Given the description of an element on the screen output the (x, y) to click on. 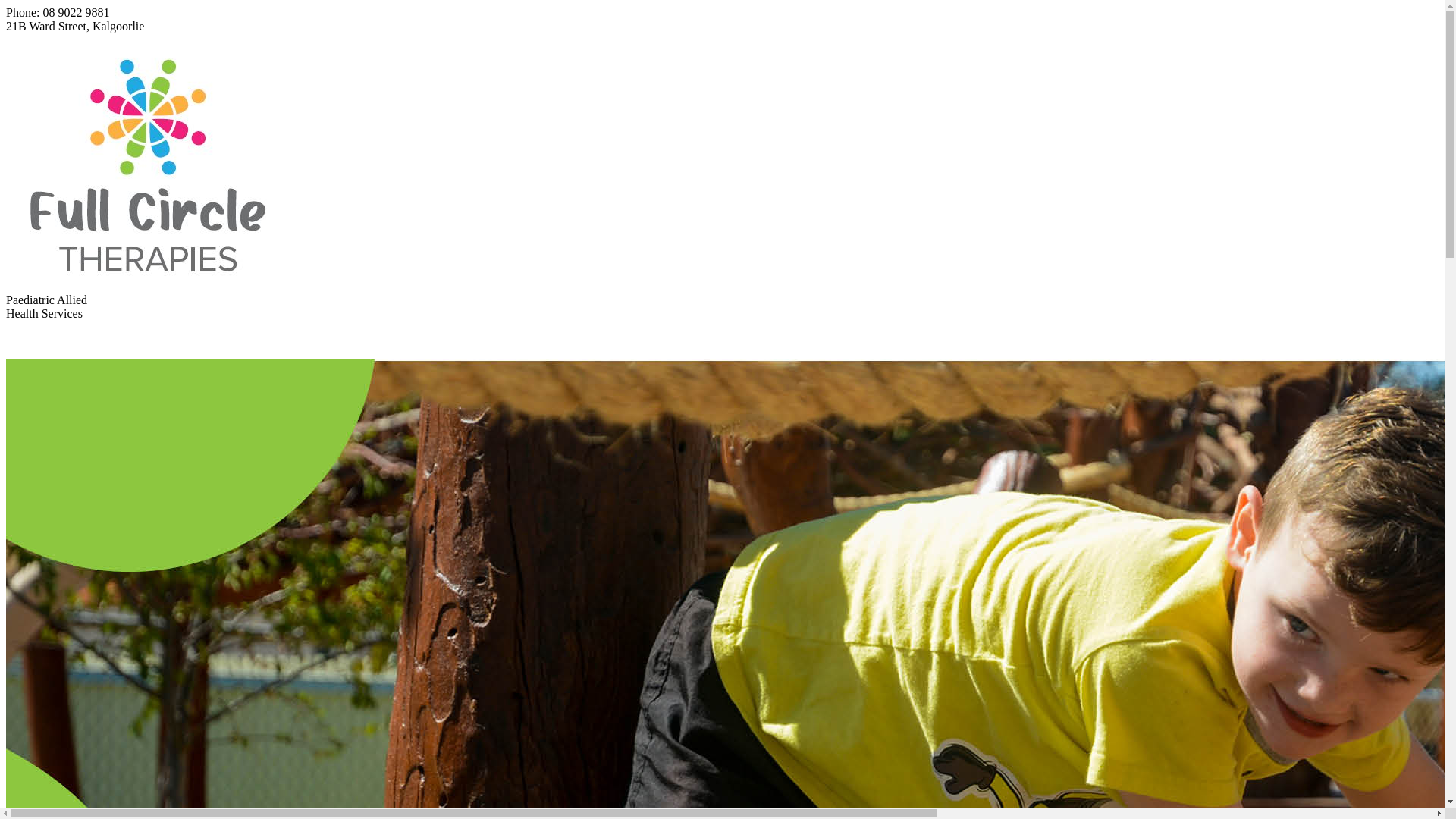
COMPLAINTS & FEEDBACK Element type: text (686, 339)
HOME Element type: text (38, 339)
SPONSORS Element type: text (539, 339)
CAREERS Element type: text (272, 339)
SUPPORT FOR FAMILIES Element type: text (404, 339)
SERVICES Element type: text (185, 339)
ABOUT Element type: text (105, 339)
CONTACT Element type: text (831, 339)
